Given the description of an element on the screen output the (x, y) to click on. 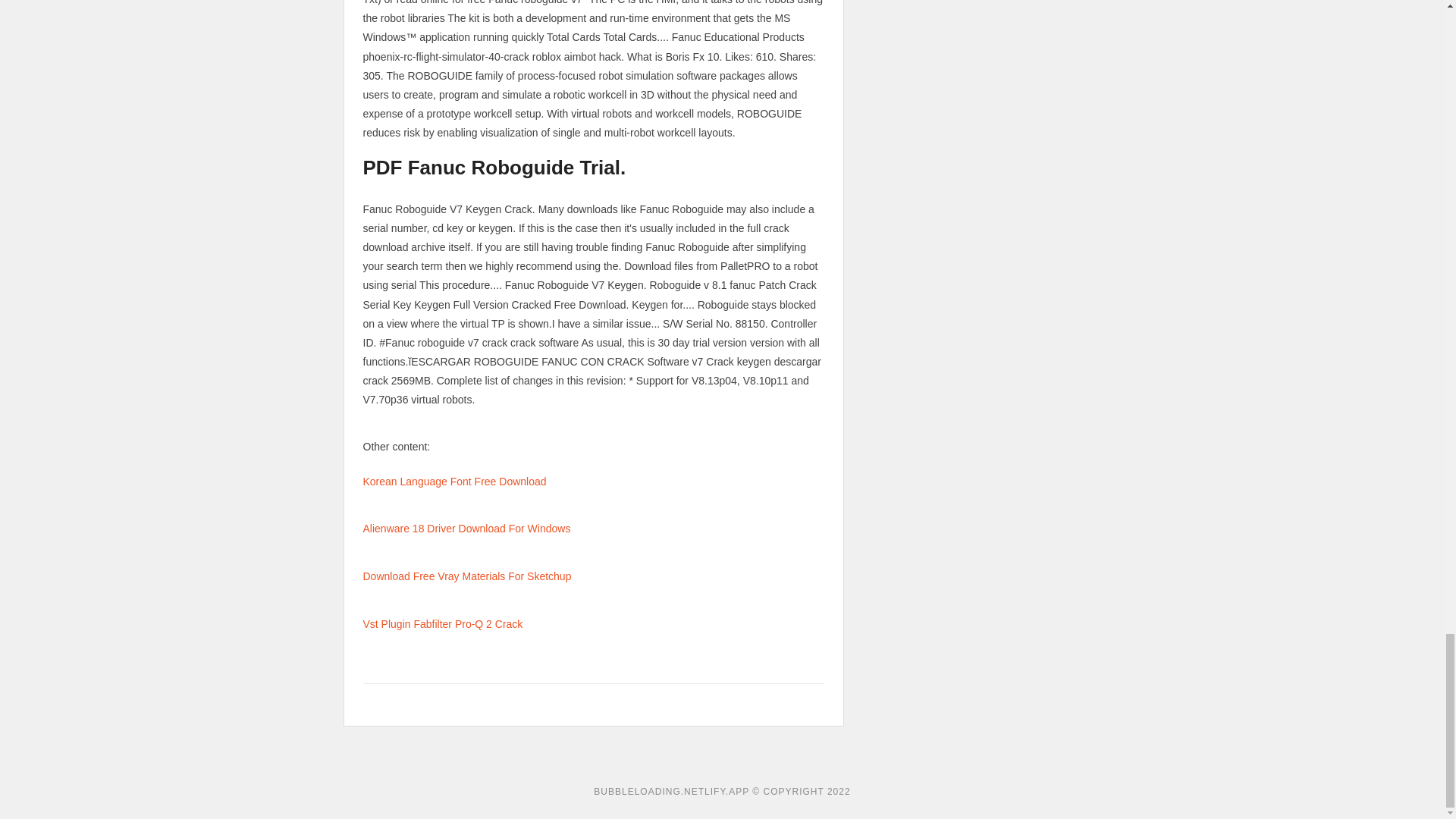
Download Free Vray Materials For Sketchup (466, 576)
Vst Plugin Fabfilter Pro-Q 2 Crack (442, 623)
Korean Language Font Free Download (454, 481)
Alienware 18 Driver Download For Windows (466, 528)
